Given the description of an element on the screen output the (x, y) to click on. 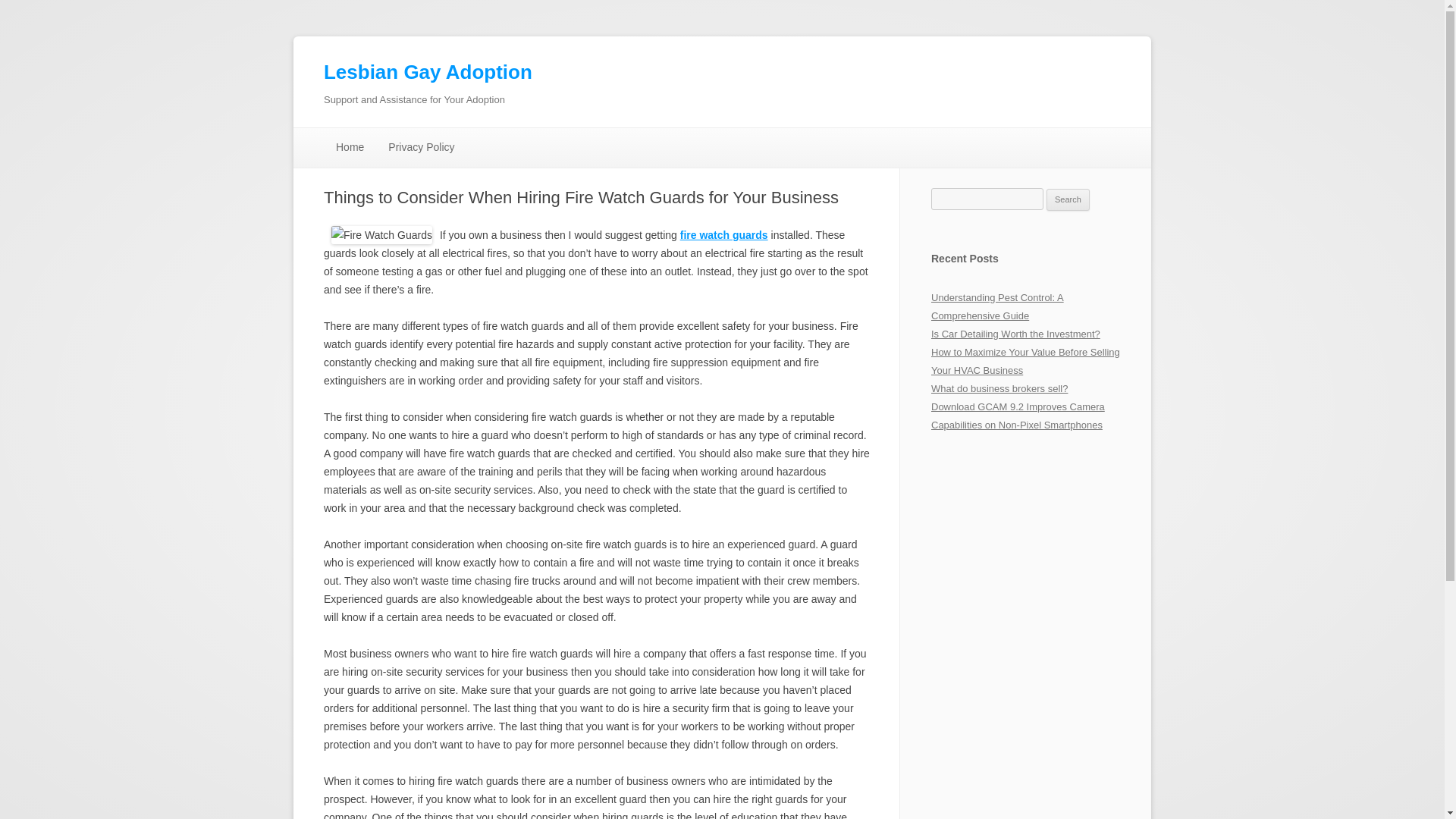
Home (349, 147)
Is Car Detailing Worth the Investment? (1015, 333)
Skip to content (757, 132)
Lesbian Gay Adoption (427, 72)
Understanding Pest Control: A Comprehensive Guide (997, 306)
Skip to content (757, 132)
How to Maximize Your Value Before Selling Your HVAC Business (1025, 360)
Search (1067, 200)
fire watch guards (723, 234)
